Given the description of an element on the screen output the (x, y) to click on. 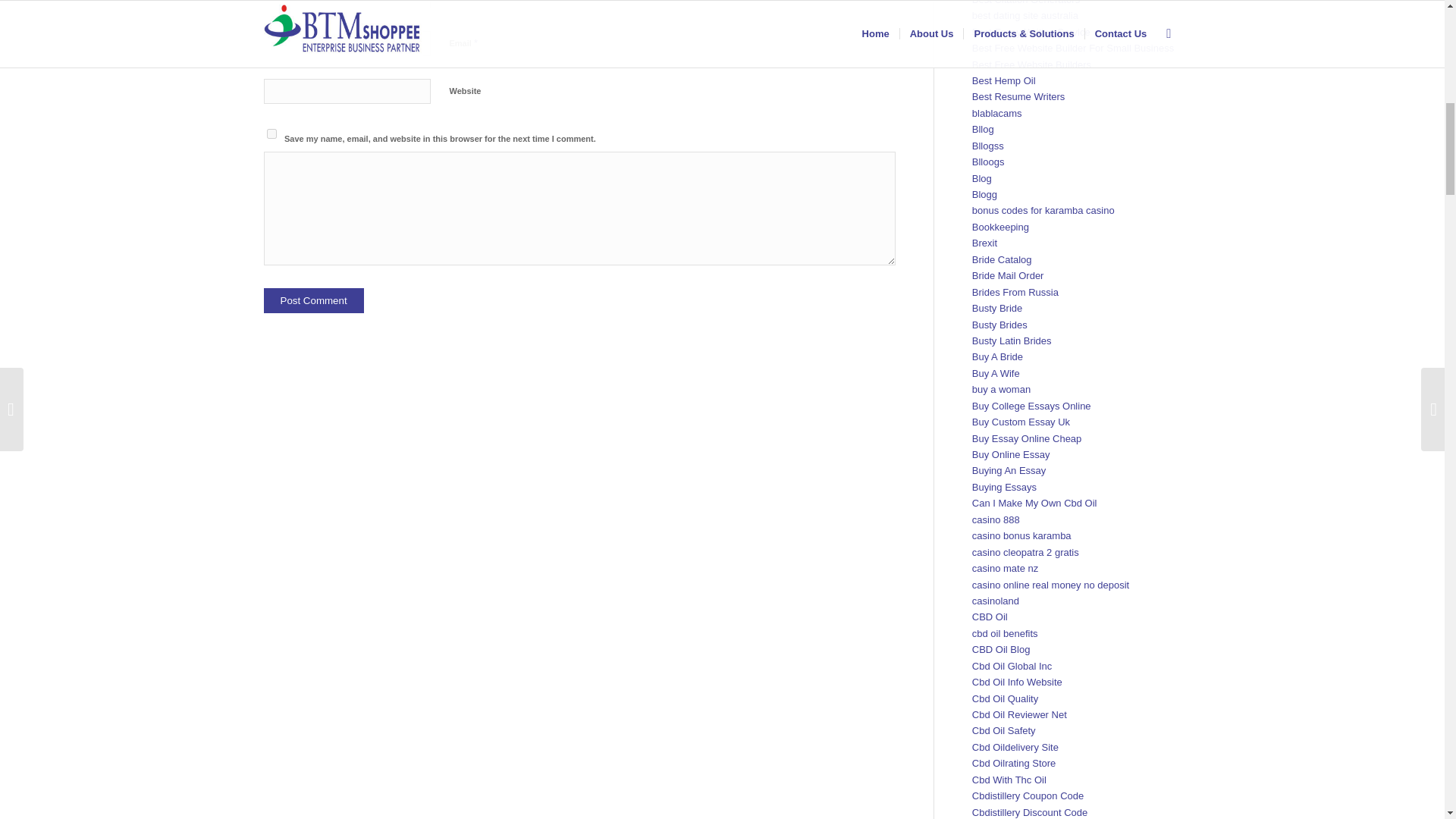
yes (271, 133)
Post Comment (313, 300)
Post Comment (313, 300)
